Given the description of an element on the screen output the (x, y) to click on. 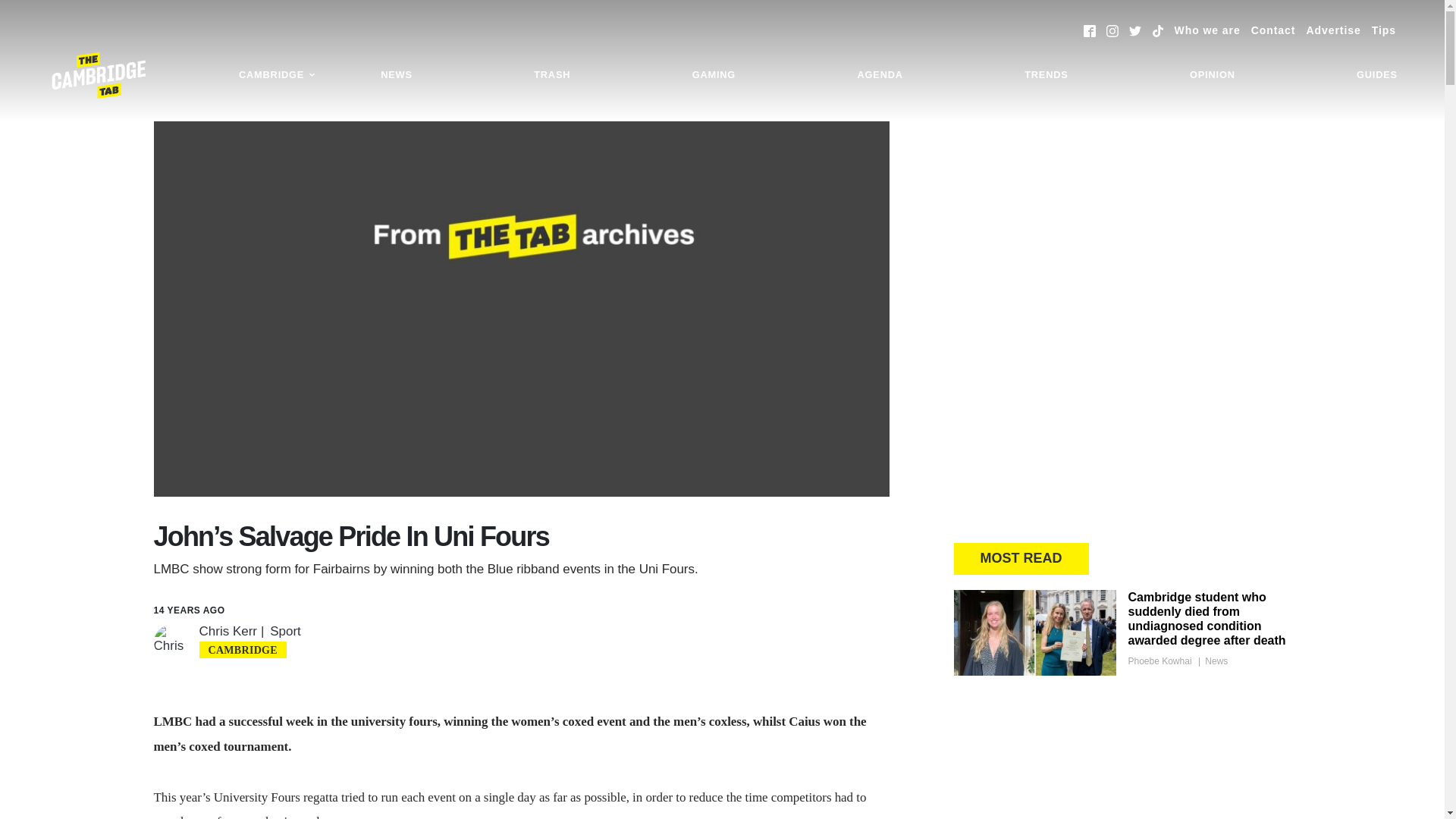
AGENDA (879, 75)
TRENDS (1045, 75)
CAMBRIDGE (277, 75)
OPINION (1211, 75)
NEWS (396, 75)
TRASH (551, 75)
Advertise (1332, 29)
Who we are (1207, 29)
GAMING (713, 75)
GUIDES (1377, 75)
Tips (1383, 29)
Contact (1272, 29)
